Given the description of an element on the screen output the (x, y) to click on. 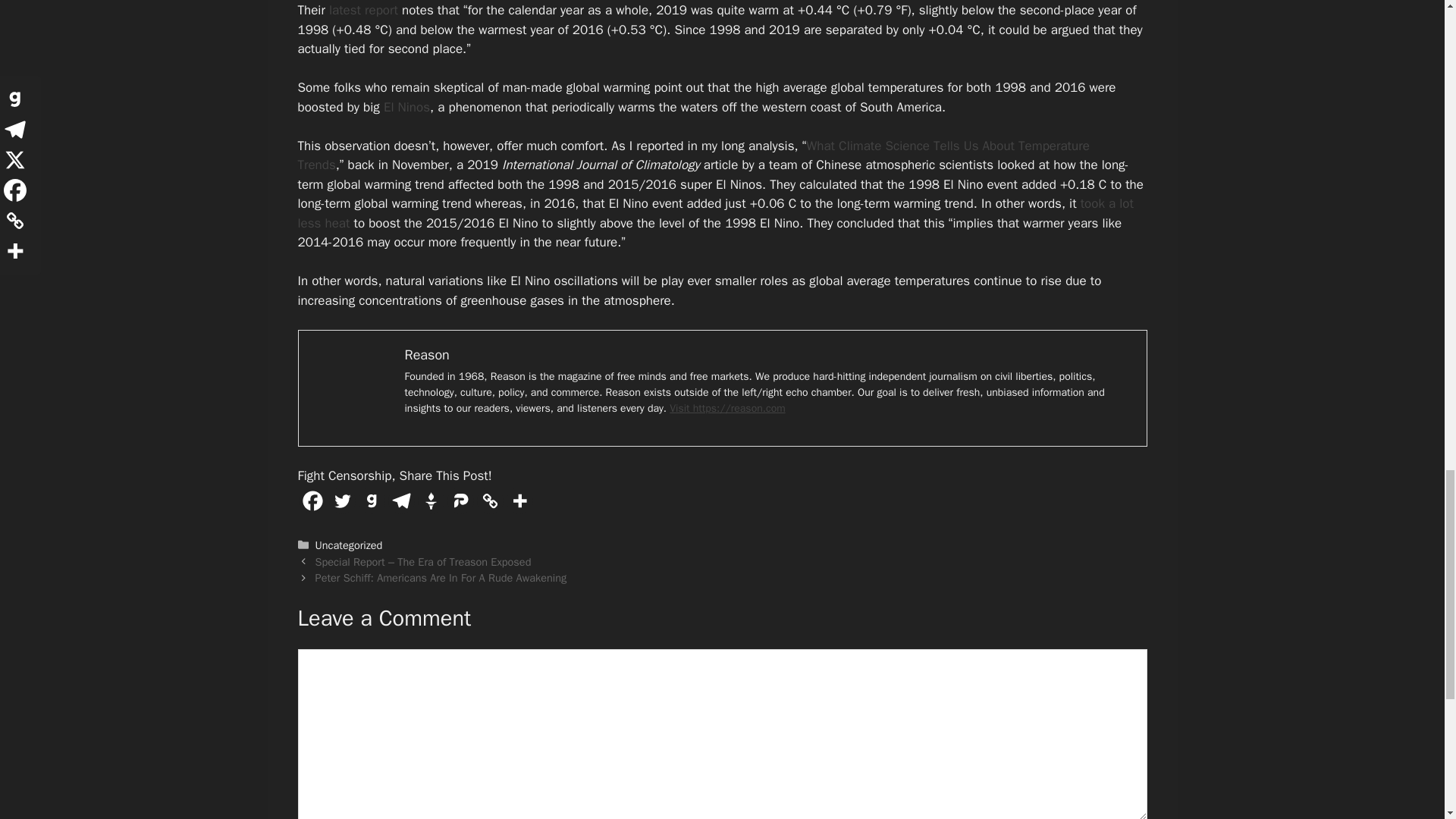
took a lot less heat (714, 212)
Facebook (311, 500)
What Climate Science Tells Us About Temperature Trends (693, 155)
latest report (363, 10)
Reason (426, 354)
El Ninos (406, 107)
